Given the description of an element on the screen output the (x, y) to click on. 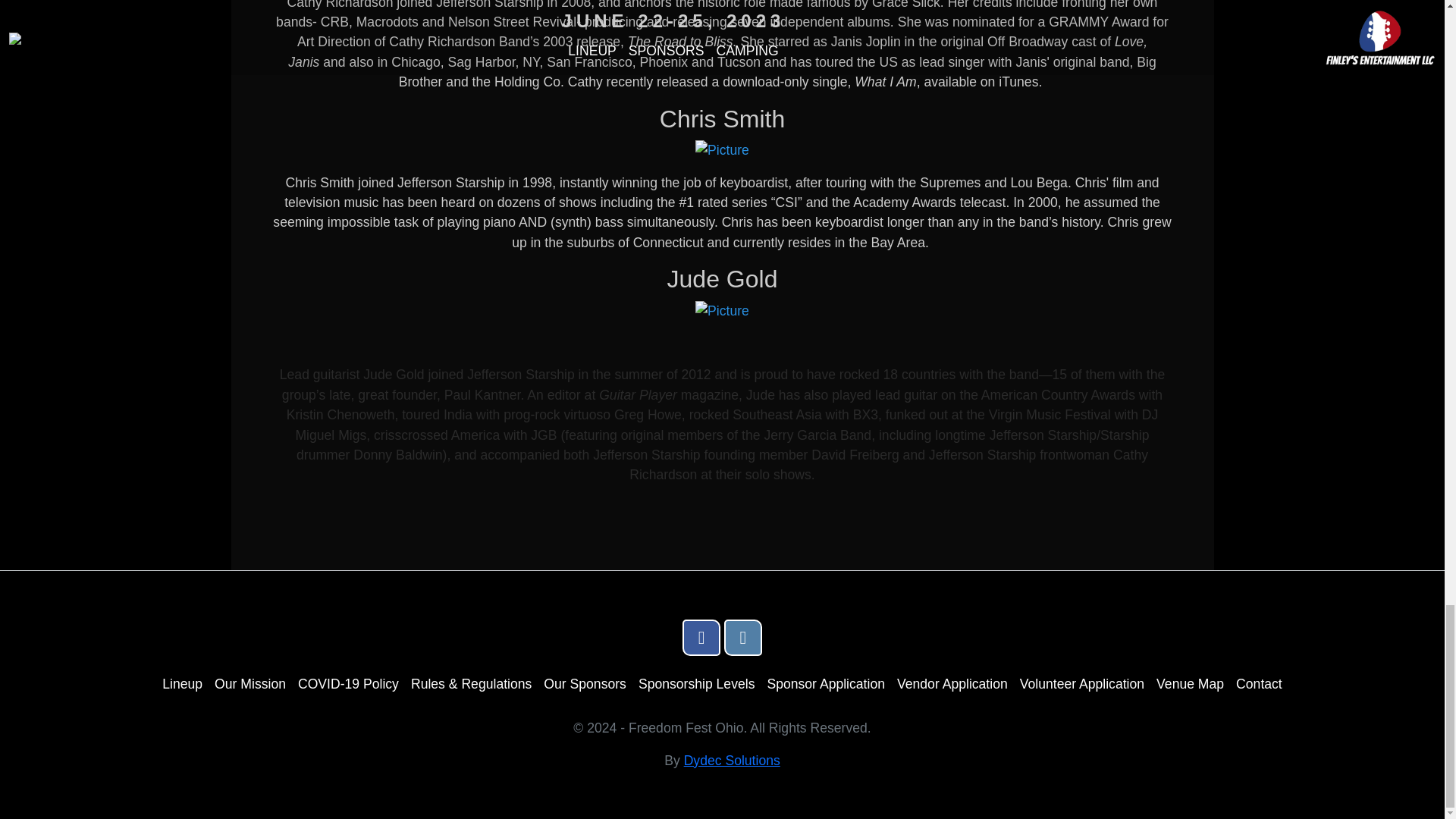
Vendor Application (951, 683)
Volunteer Application (1082, 683)
Venue Map (1190, 683)
Our Mission (249, 683)
Sponsor Application (826, 683)
Lineup (181, 683)
Sponsorship Levels (697, 683)
Contact (1259, 683)
Our Sponsors (584, 683)
Dydec Solutions (732, 759)
COVID-19 Policy (348, 683)
